Given the description of an element on the screen output the (x, y) to click on. 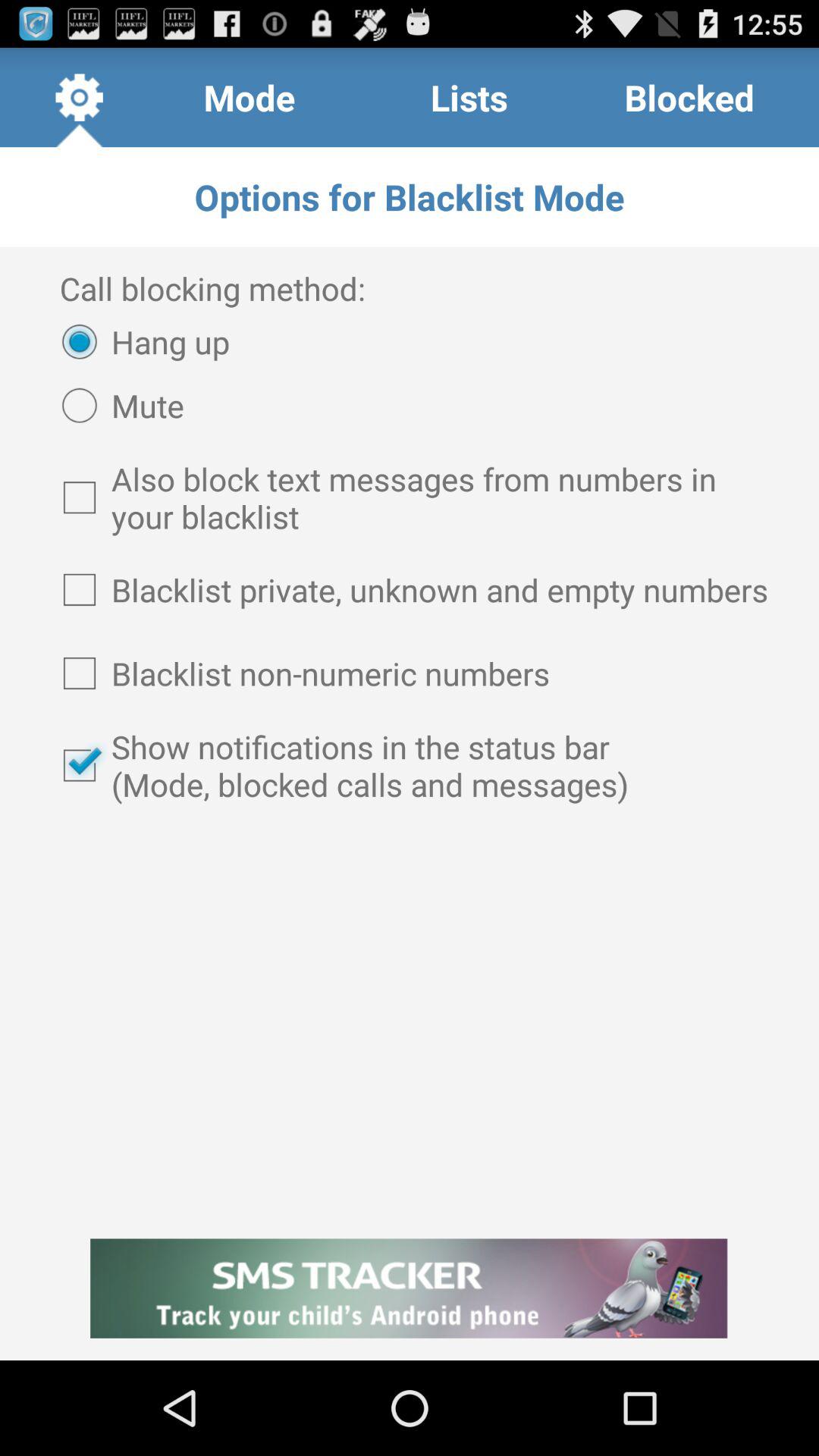
swipe until the also block text (409, 497)
